Given the description of an element on the screen output the (x, y) to click on. 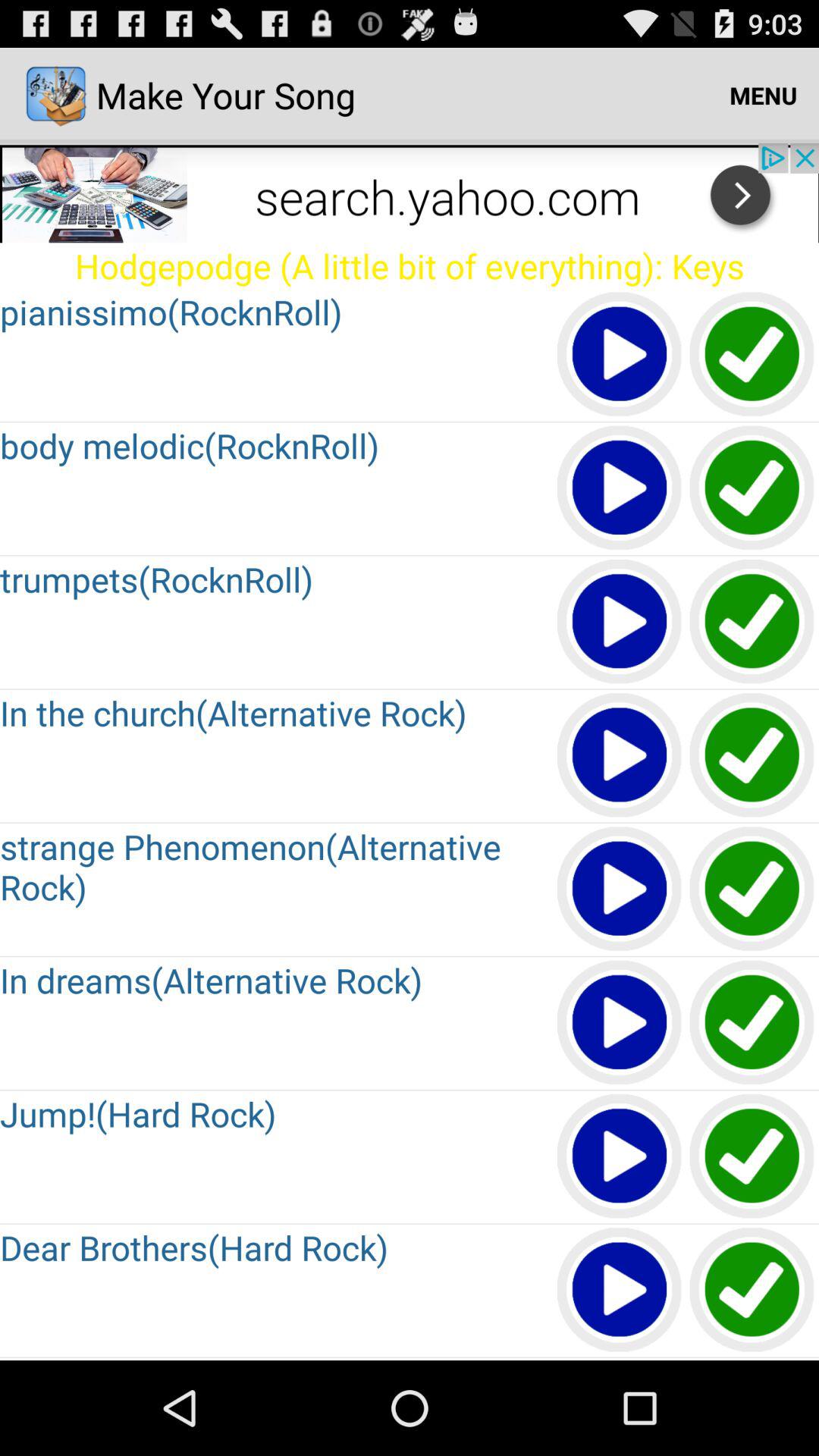
select the correct option (752, 755)
